Given the description of an element on the screen output the (x, y) to click on. 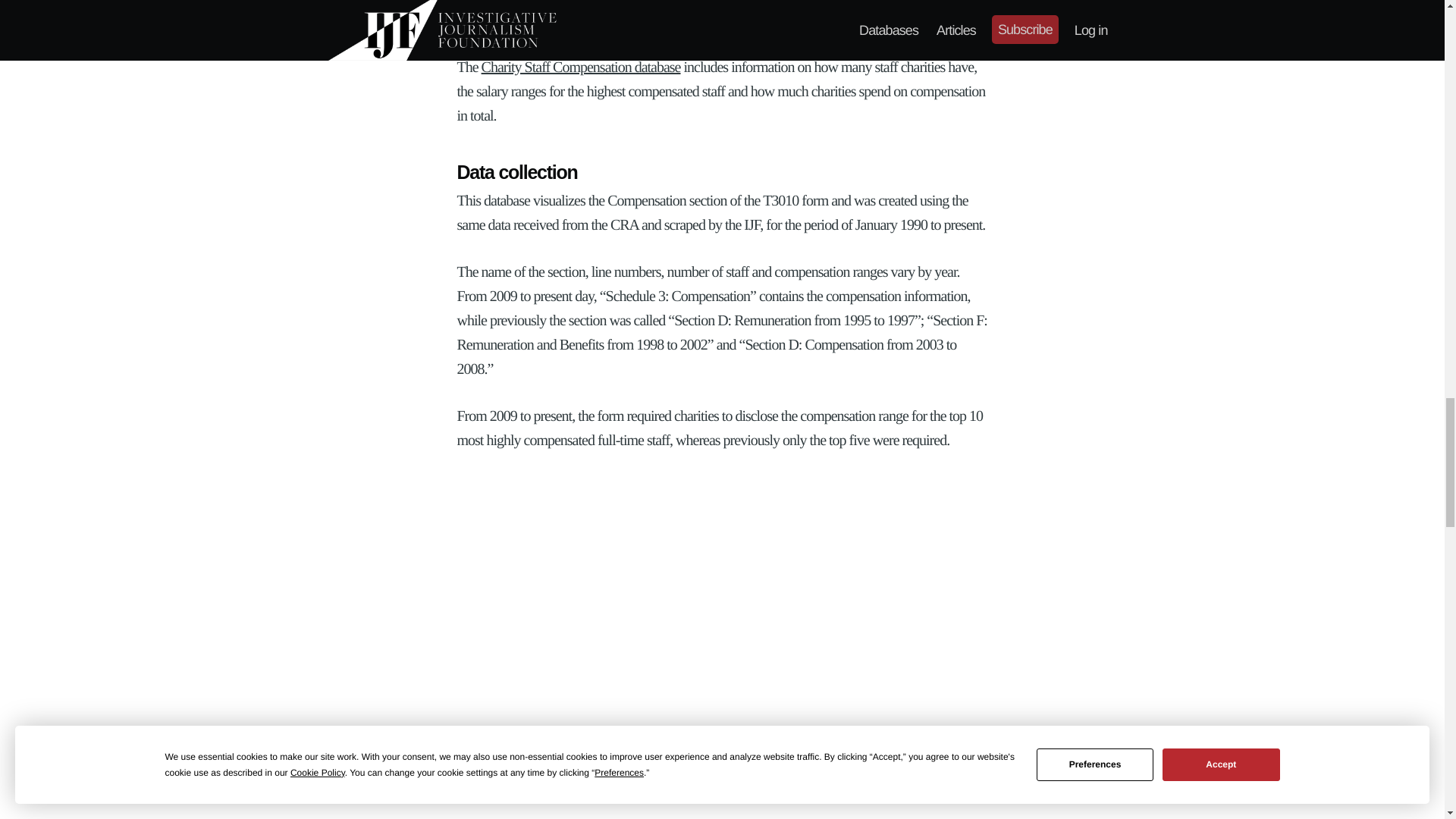
Charity Staff Compensation database (581, 67)
